Given the description of an element on the screen output the (x, y) to click on. 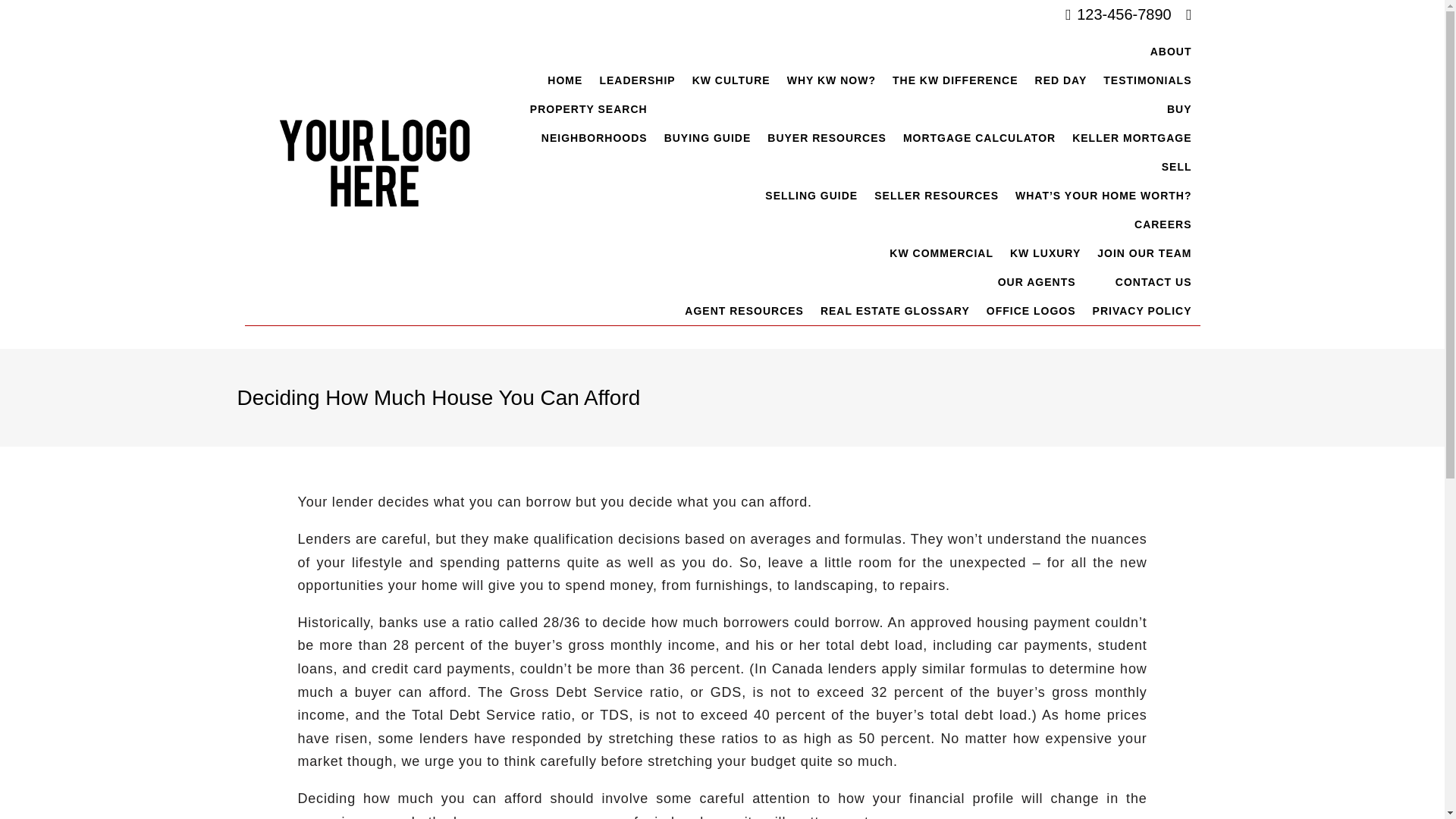
OFFICE LOGOS (1031, 310)
TESTIMONIALS (1146, 80)
KW LUXURY (1045, 253)
NEIGHBORHOODS (594, 137)
BUYER RESOURCES (826, 137)
PROPERTY SEARCH (588, 109)
SELLER RESOURCES (936, 194)
BUYING GUIDE (708, 137)
SELLING GUIDE (811, 194)
THE KW DIFFERENCE (954, 80)
BUY (927, 109)
MORTGAGE CALCULATOR (979, 137)
JOIN OUR TEAM (1144, 253)
PRIVACY POLICY (1141, 310)
CAREERS (1039, 224)
